Given the description of an element on the screen output the (x, y) to click on. 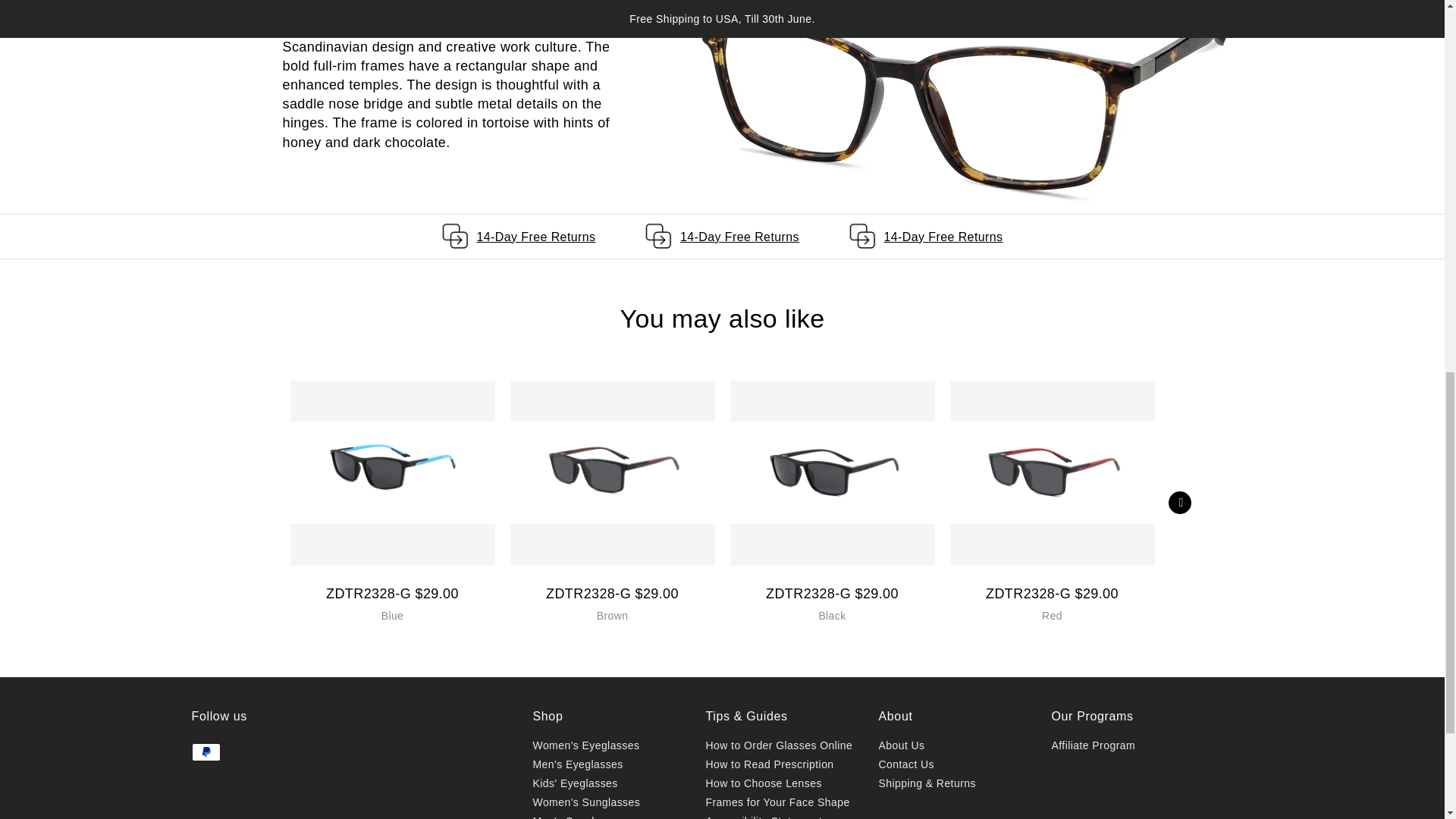
ZDTR2328-G--Blue (392, 473)
PayPal (204, 751)
